Given the description of an element on the screen output the (x, y) to click on. 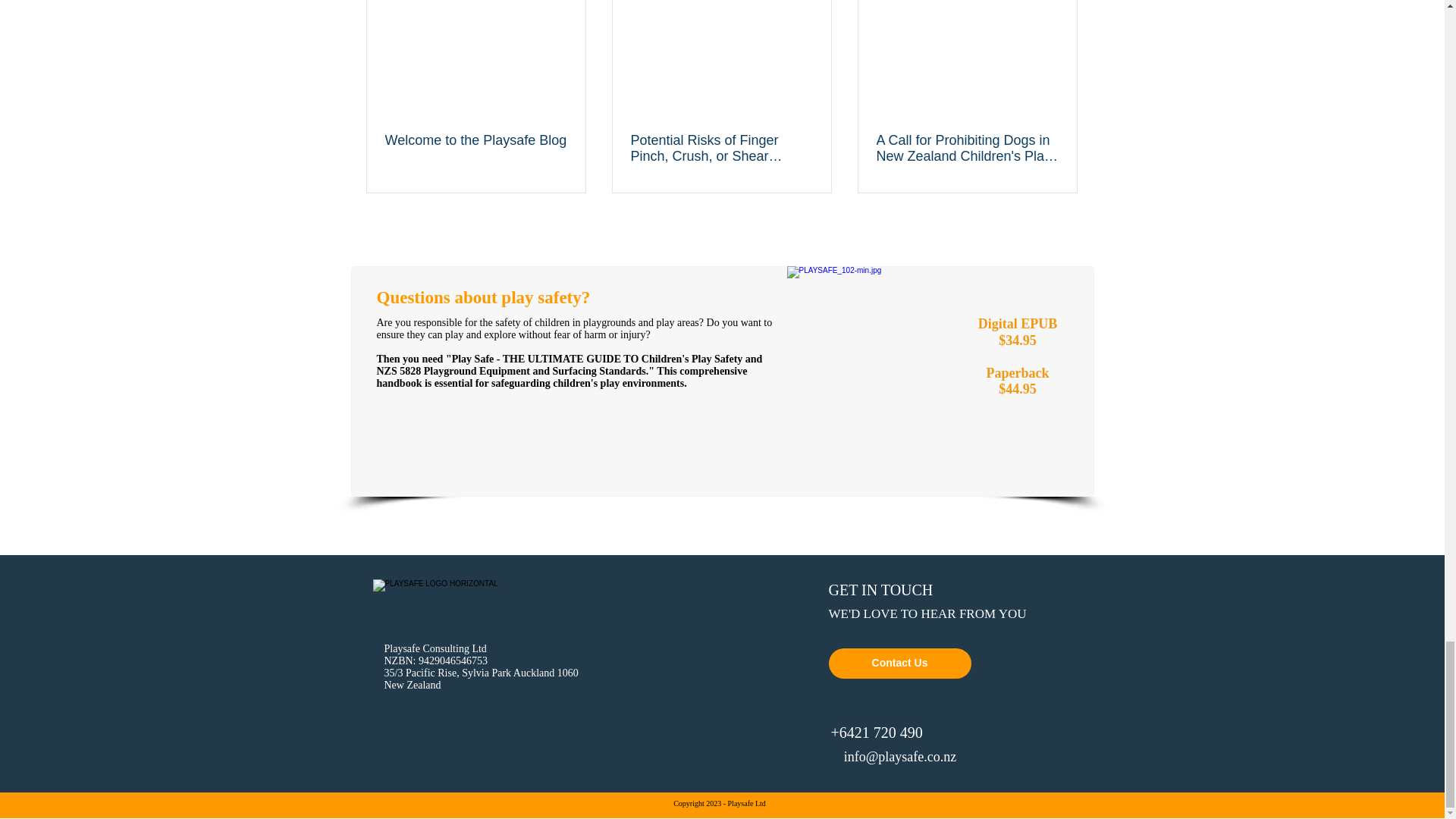
Contact Us (899, 663)
Welcome to the Playsafe Blog (476, 140)
Potential Risks of Finger Pinch, Crush, or Shear Incidents (721, 148)
